Given the description of an element on the screen output the (x, y) to click on. 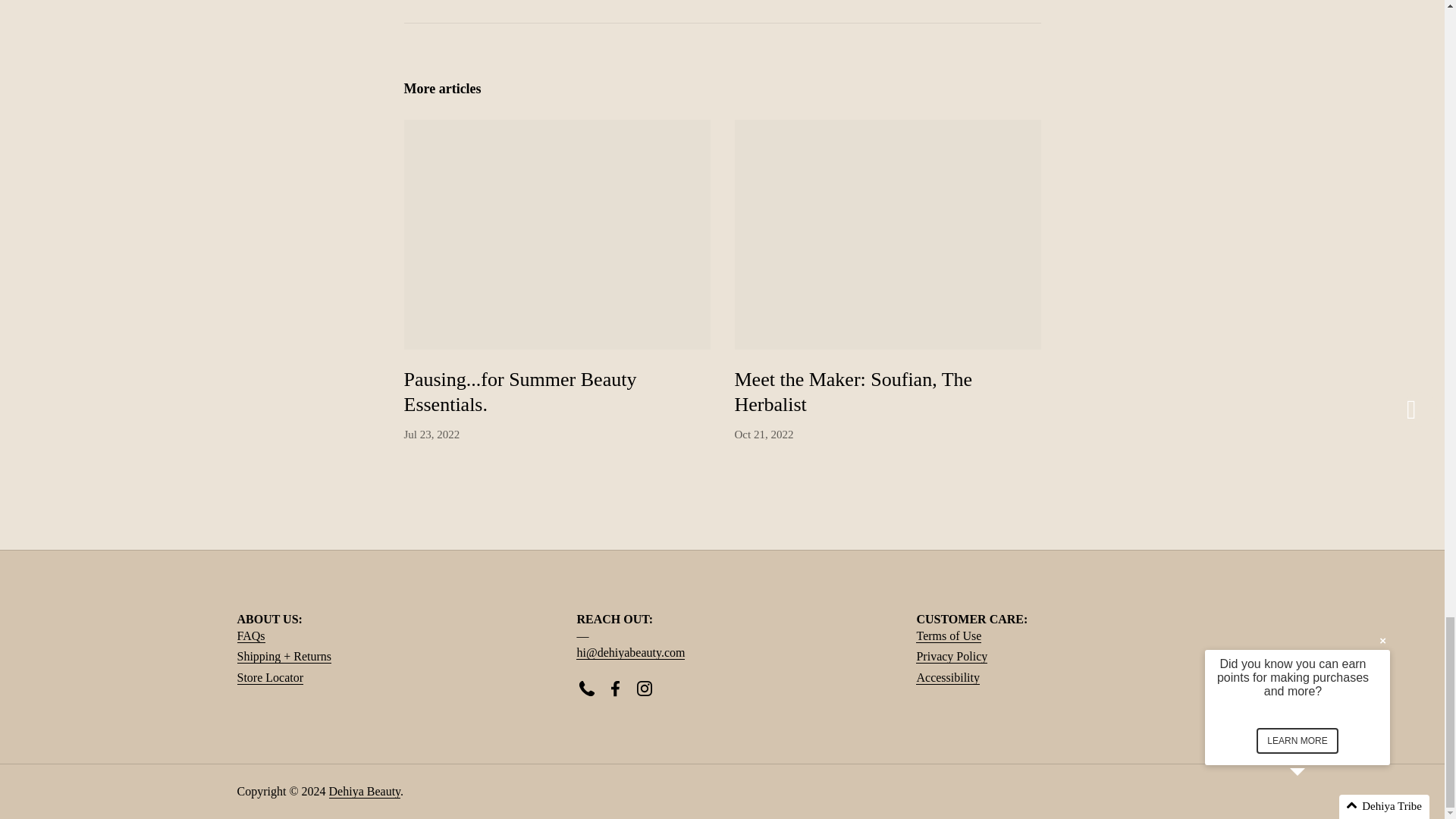
Meet the Maker:  Soufian, The Herbalist (887, 234)
Meet the Maker:  Soufian, The Herbalist (852, 394)
